Given the description of an element on the screen output the (x, y) to click on. 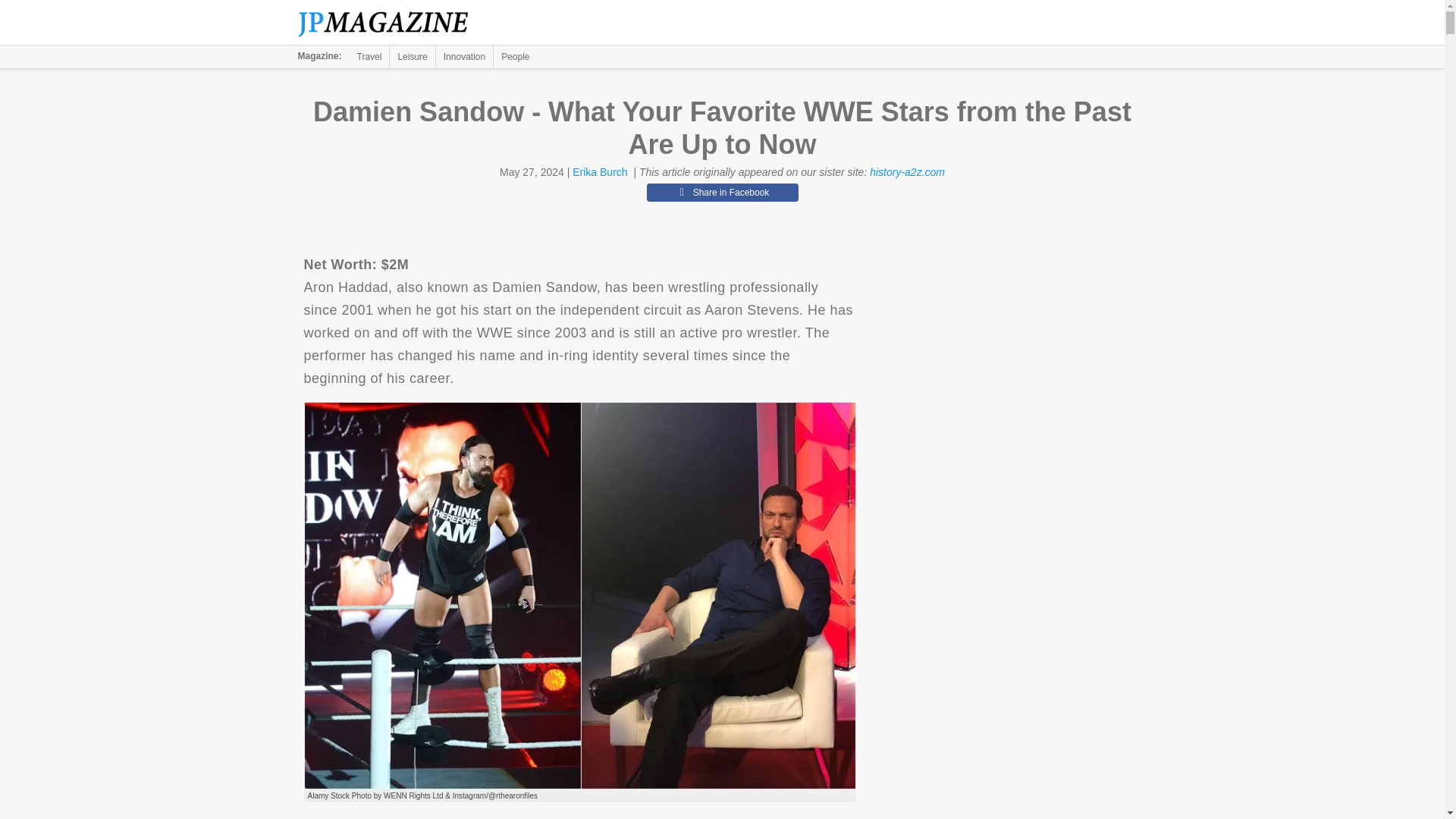
history-a2z.com (906, 172)
Travel (369, 56)
Erika Burch (599, 172)
Share in Facebook (721, 192)
Innovation (464, 56)
People (515, 56)
The Jerusalem Post Magazine (391, 22)
Leisure (411, 56)
